Given the description of an element on the screen output the (x, y) to click on. 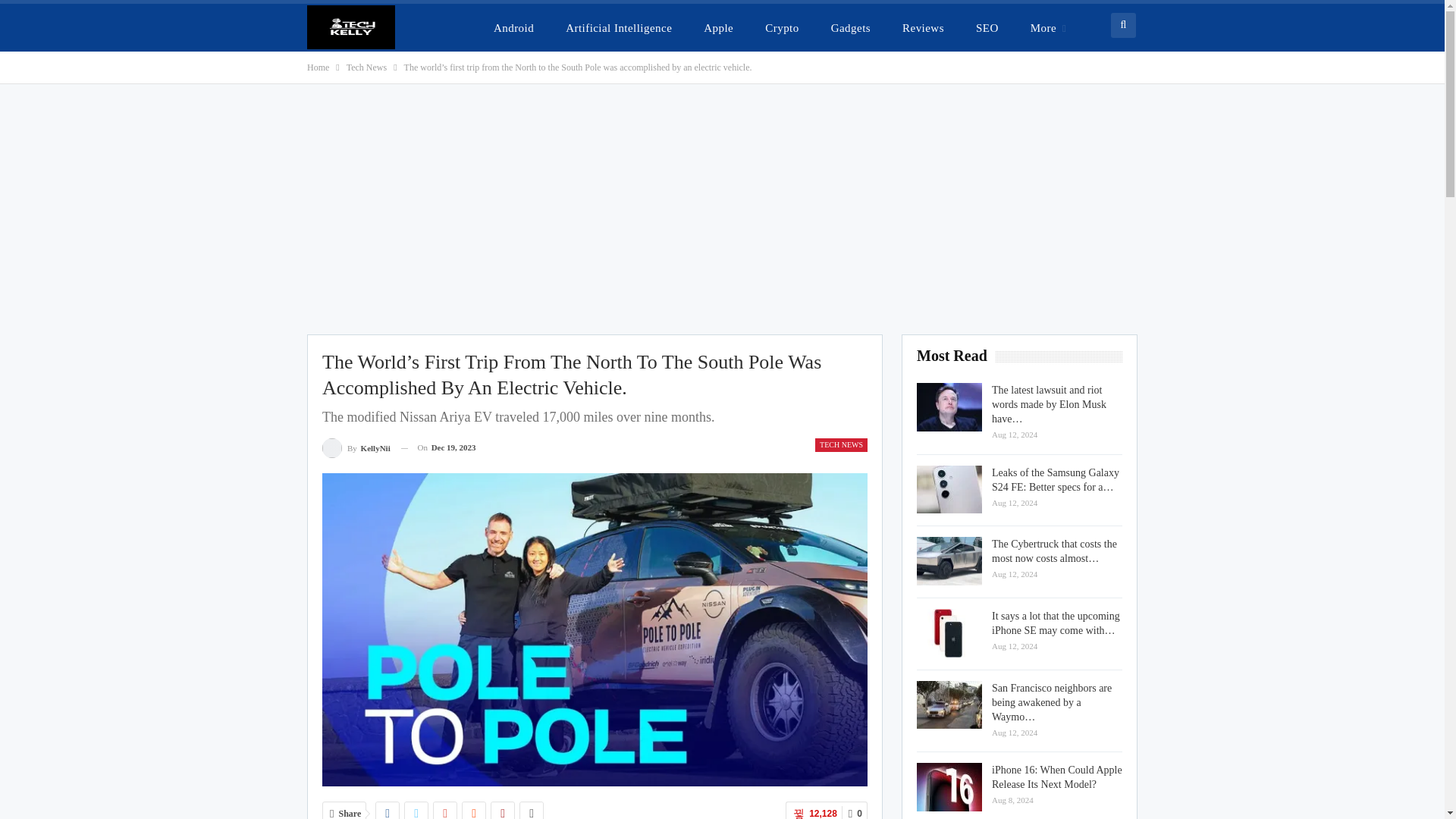
Home (318, 67)
Android (513, 27)
By KellyNii (355, 447)
Reviews (922, 27)
Artificial Intelligence (618, 27)
TECH NEWS (841, 445)
Tech News (366, 67)
0 (854, 810)
Gadgets (850, 27)
